Given the description of an element on the screen output the (x, y) to click on. 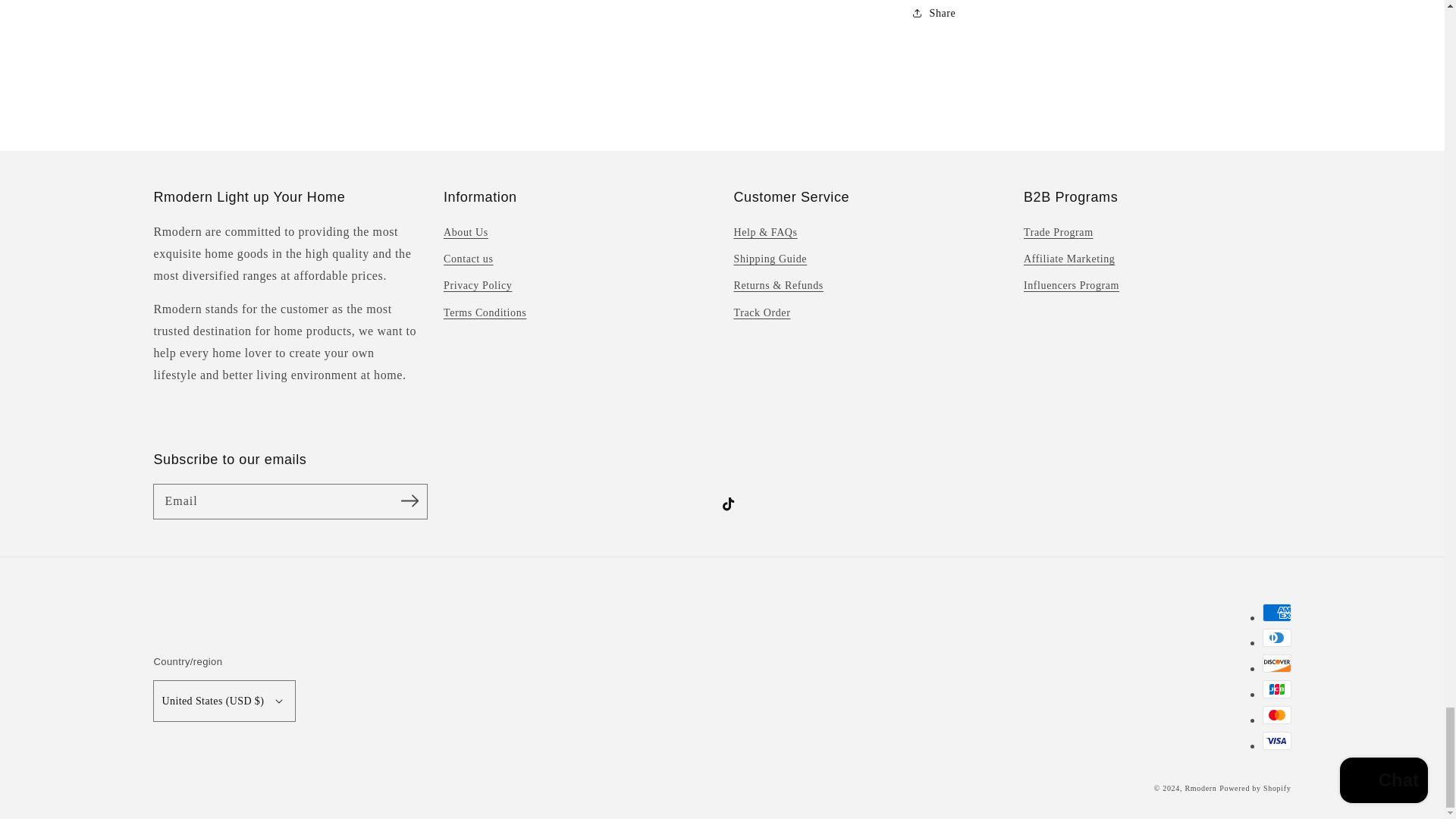
Diners Club (1276, 637)
Visa (1276, 741)
Discover (1276, 663)
American Express (1276, 612)
JCB (1276, 689)
Mastercard (1276, 714)
